Given the description of an element on the screen output the (x, y) to click on. 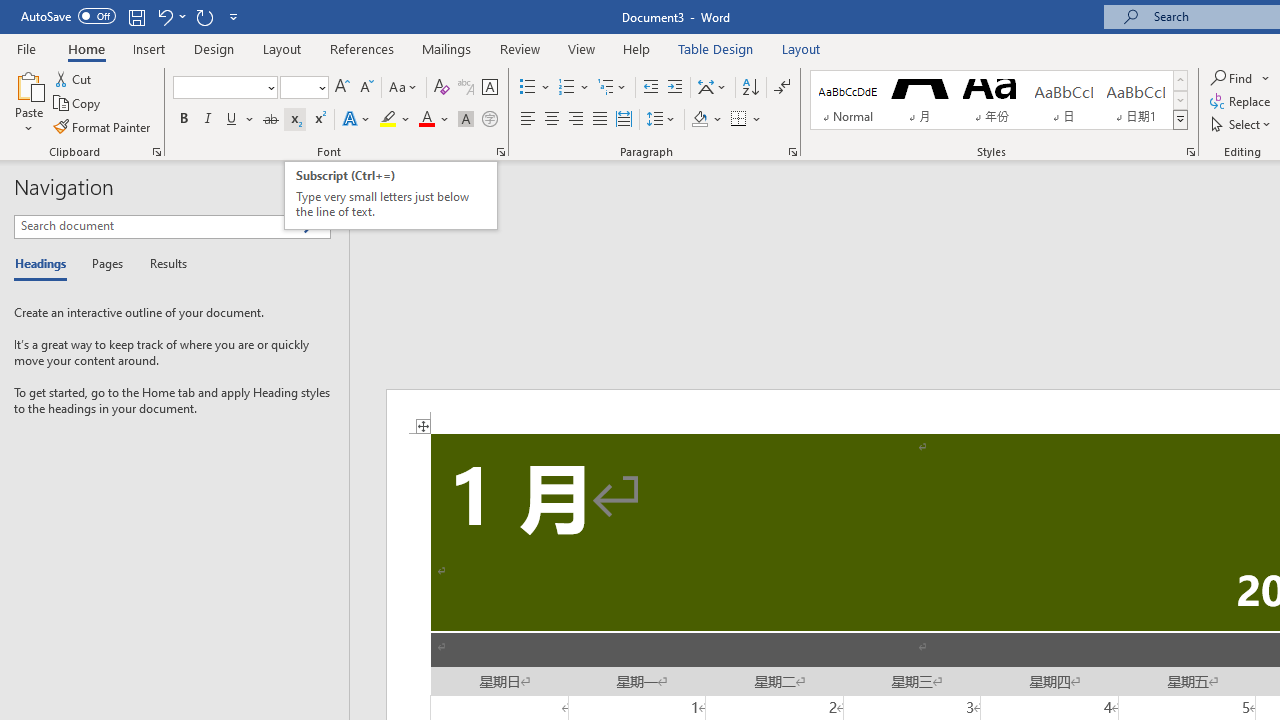
Text Effects and Typography (357, 119)
Center (552, 119)
Multilevel List (613, 87)
Repeat Doc Close (204, 15)
Select (1242, 124)
Paragraph... (792, 151)
Sort... (750, 87)
Shading (706, 119)
Headings (45, 264)
Superscript (319, 119)
